Given the description of an element on the screen output the (x, y) to click on. 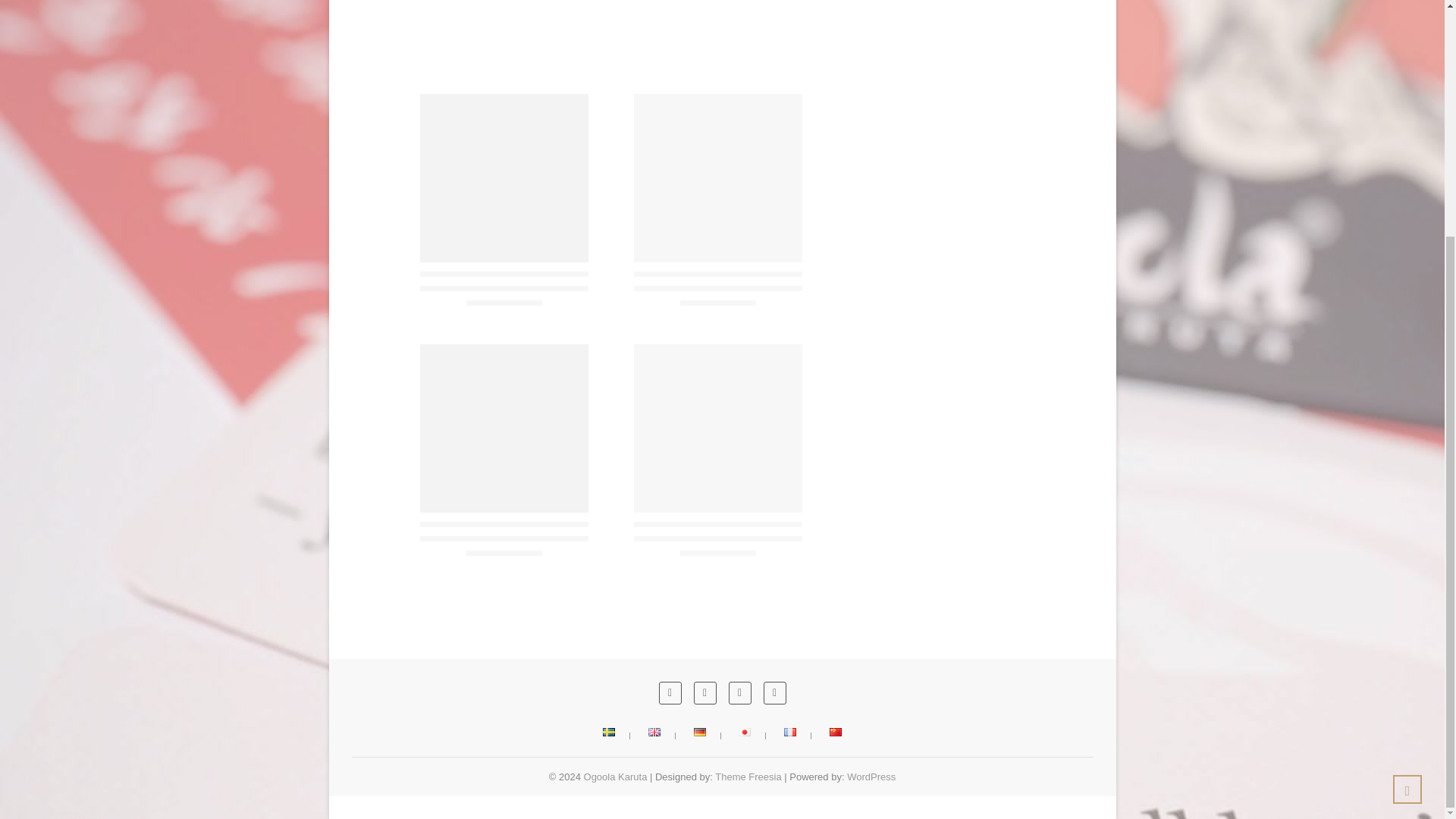
Theme Freesia (747, 776)
Go to Top (1407, 466)
Ogoola Karuta (615, 776)
WordPress (871, 776)
